Given the description of an element on the screen output the (x, y) to click on. 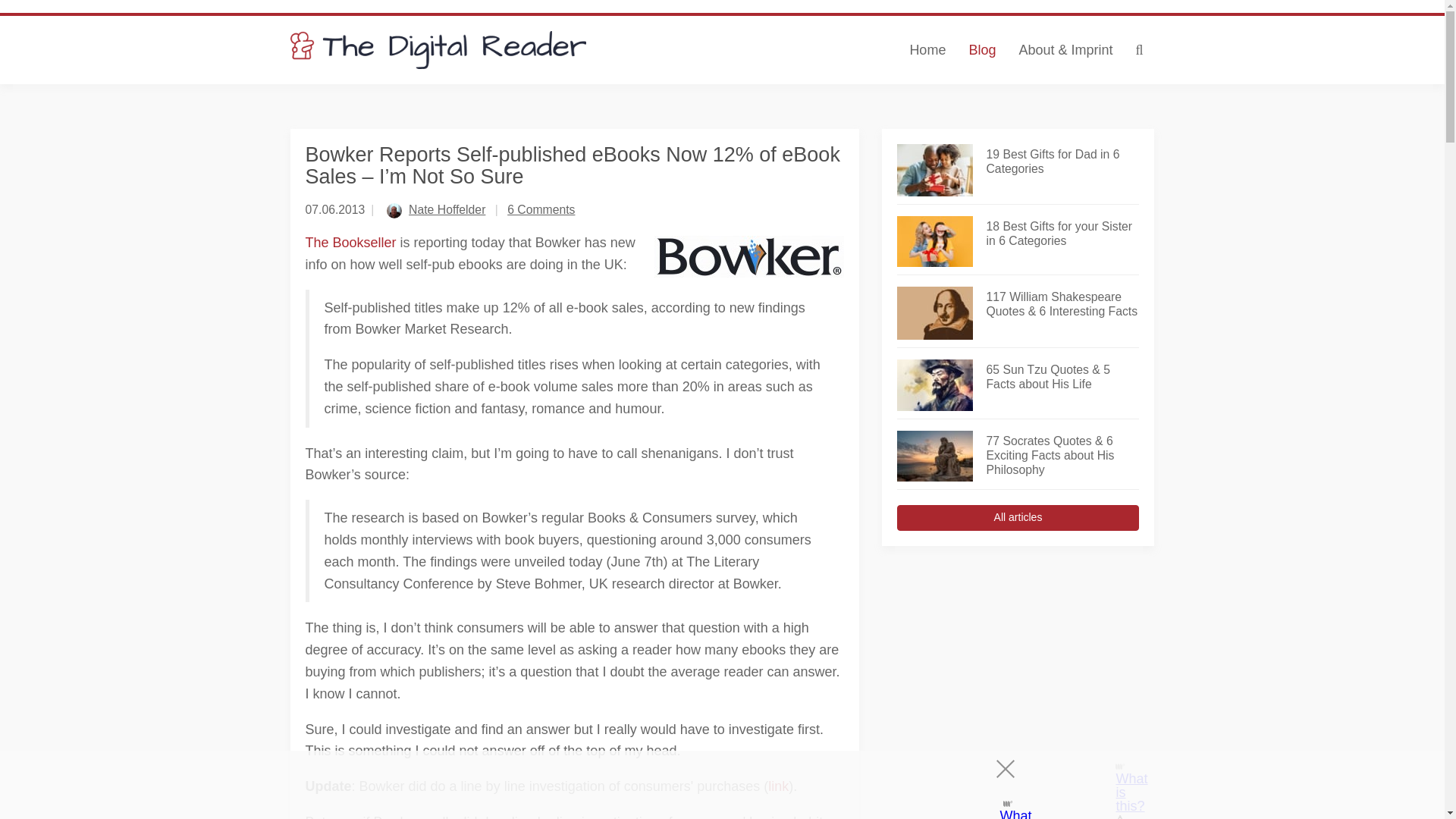
3rd party ad content (1017, 663)
18 Best Gifts for your Sister in 6 Categories (1061, 234)
Nate Hoffelder (446, 209)
Home (927, 49)
Blog (981, 49)
6 Comments (540, 209)
3rd party ad content (708, 785)
link (778, 785)
The Bookseller (350, 242)
19 Best Gifts for Dad in 6 Categories (1061, 162)
The Digital Reader (437, 49)
